Given the description of an element on the screen output the (x, y) to click on. 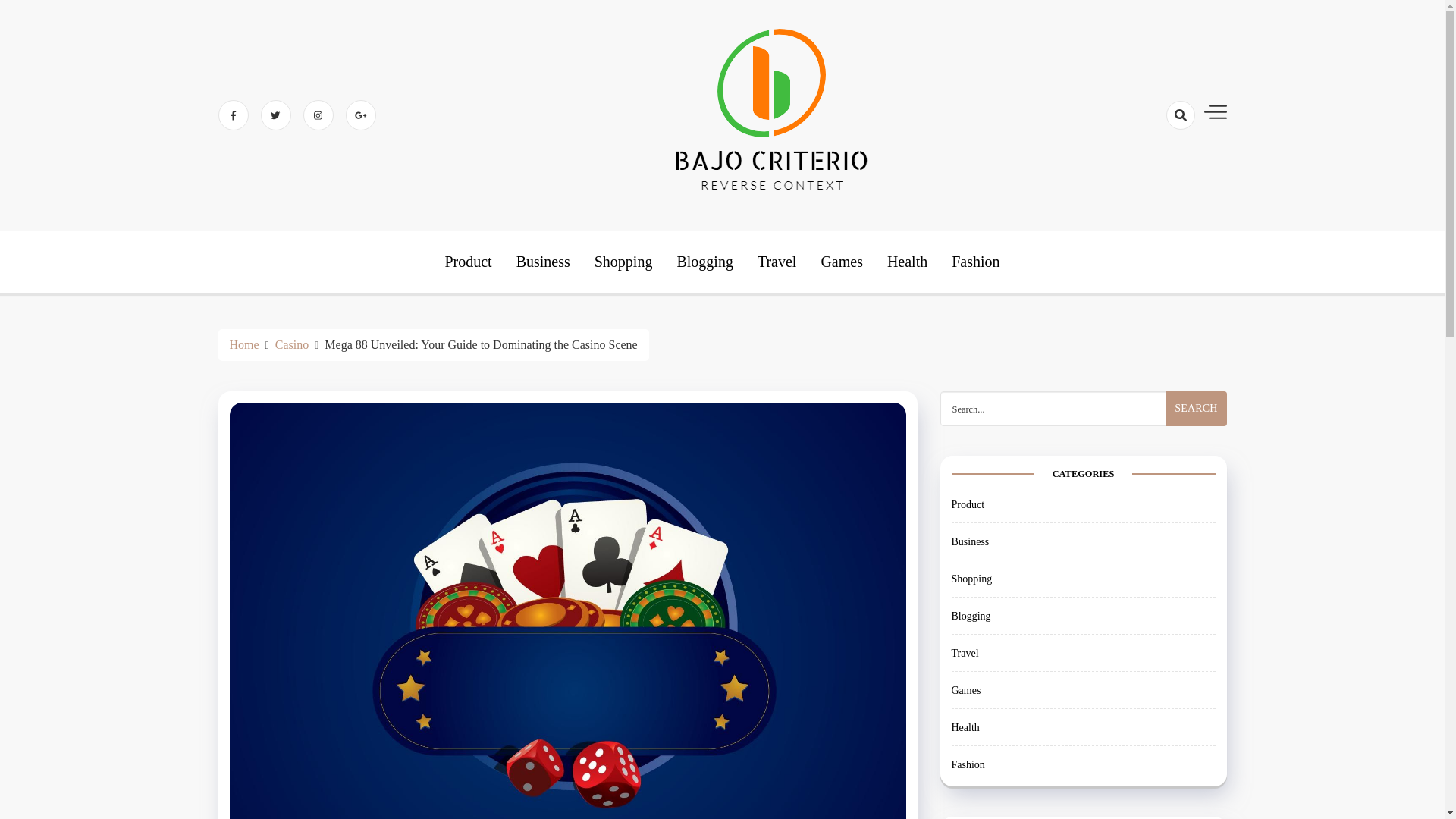
Search (1195, 408)
Search (1195, 408)
Casino (291, 344)
Home (243, 344)
Blogging (704, 261)
Bajo Criterio (783, 249)
Shopping (623, 261)
Search (1152, 168)
